Given the description of an element on the screen output the (x, y) to click on. 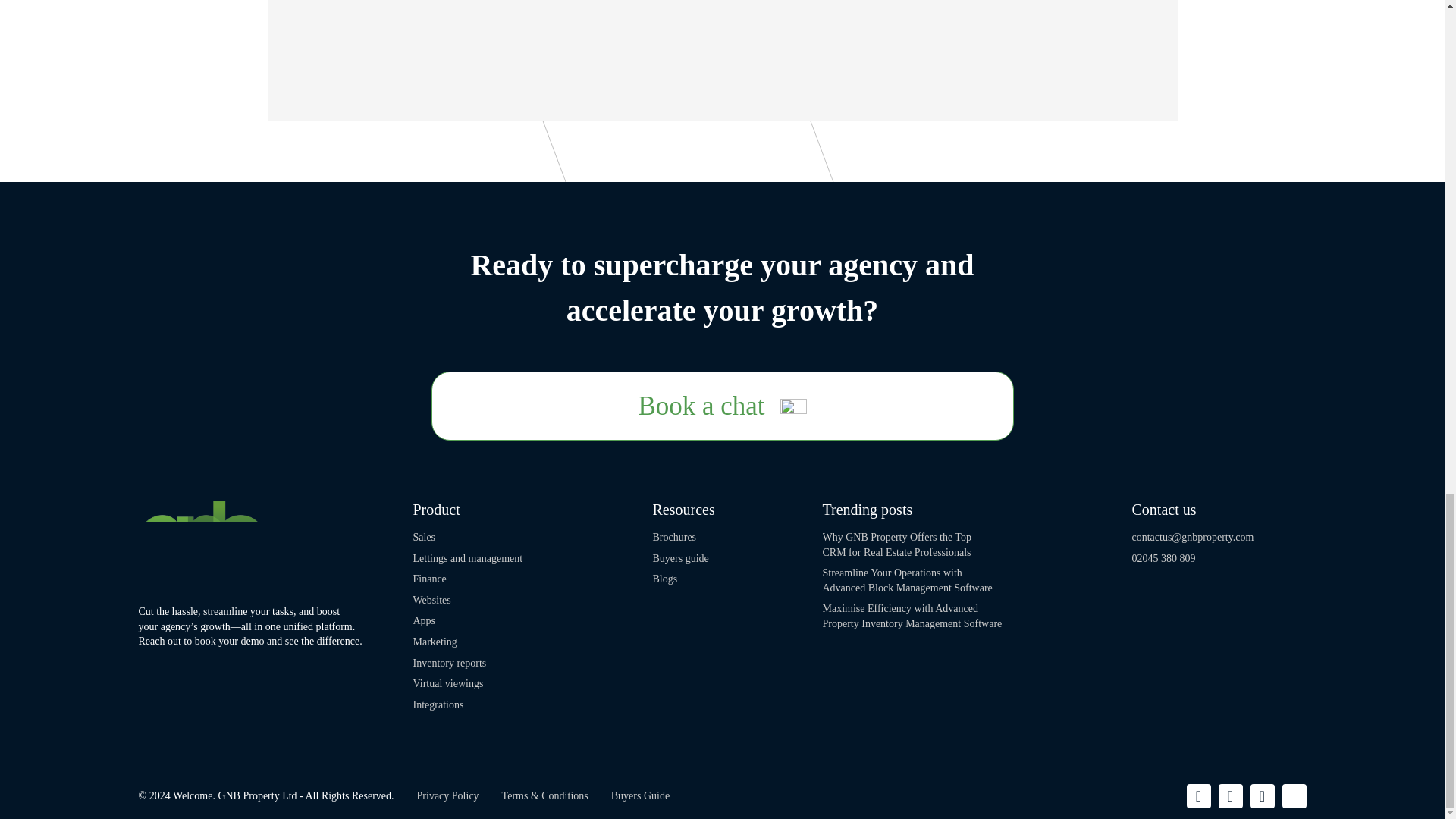
Apps (423, 620)
Sales (423, 537)
Lettings and management (467, 558)
Book a chat (721, 405)
Marketing (434, 642)
logo (206, 541)
Websites (430, 600)
Finance (428, 579)
